Given the description of an element on the screen output the (x, y) to click on. 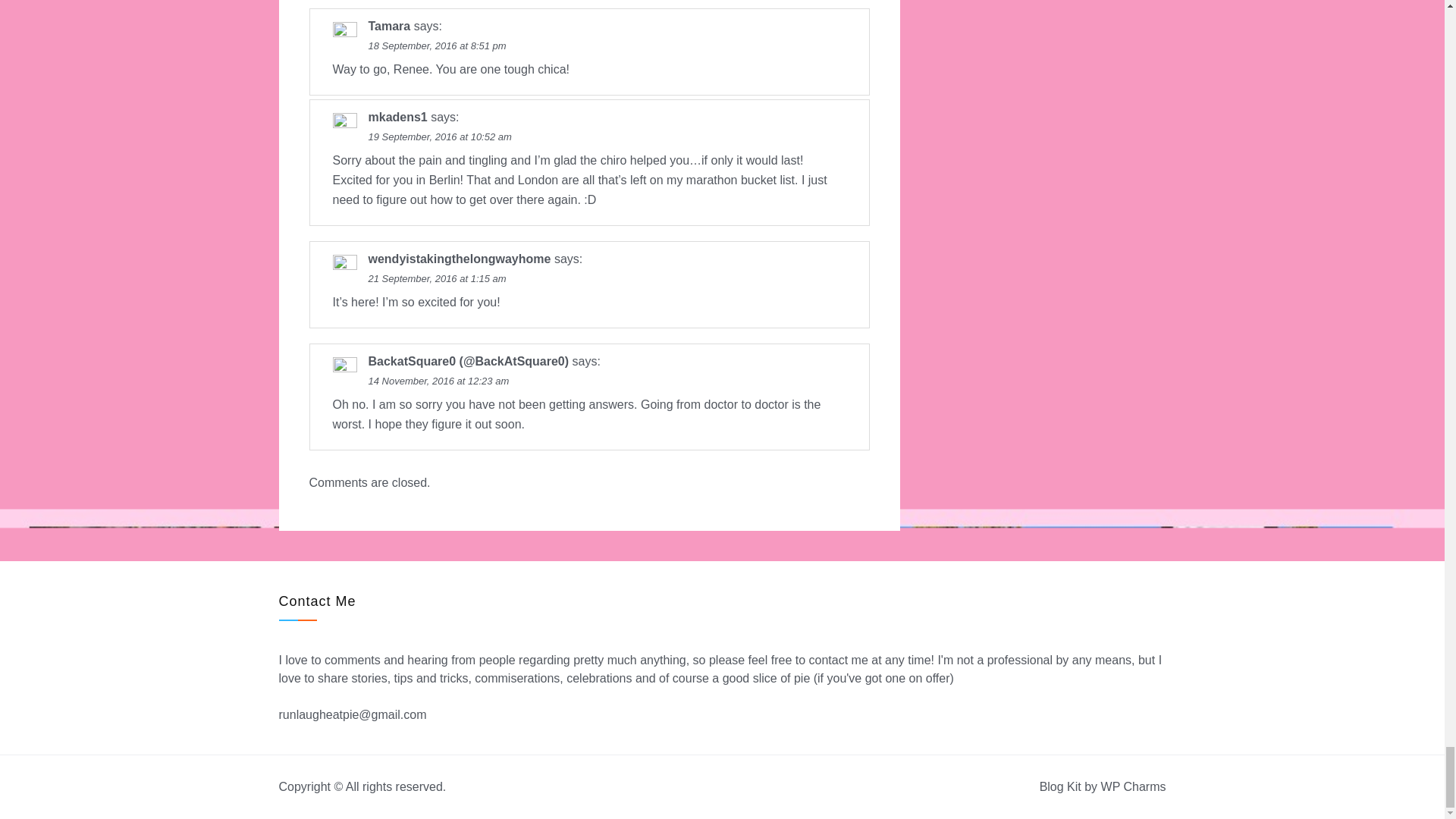
WP Charms (1133, 786)
18 September, 2016 at 8:51 pm (437, 45)
mkadens1 (398, 116)
wendyistakingthelongwayhome (459, 258)
19 September, 2016 at 10:52 am (440, 136)
21 September, 2016 at 1:15 am (437, 278)
14 November, 2016 at 12:23 am (438, 380)
